Given the description of an element on the screen output the (x, y) to click on. 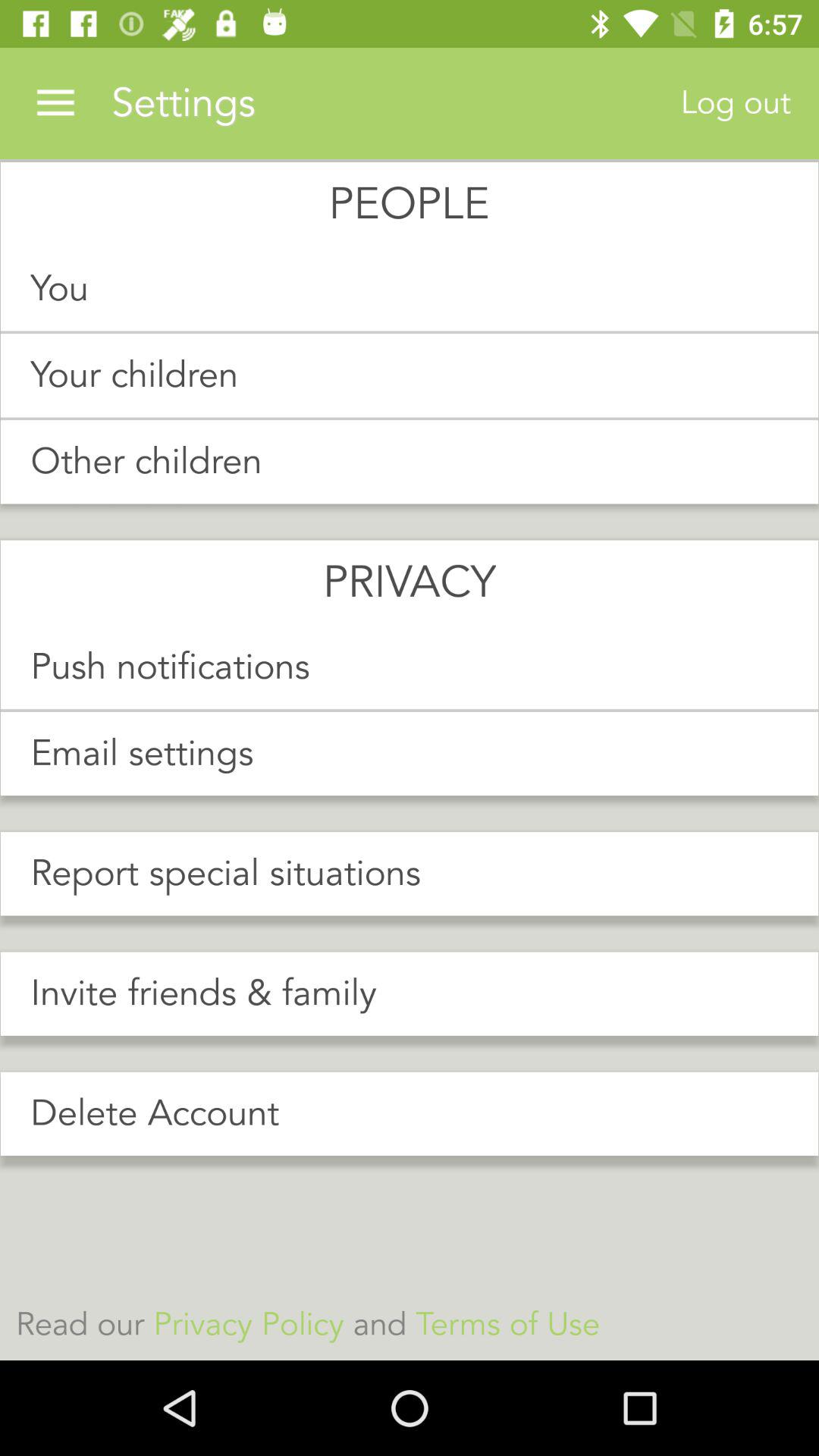
jump to the other children (409, 461)
